Given the description of an element on the screen output the (x, y) to click on. 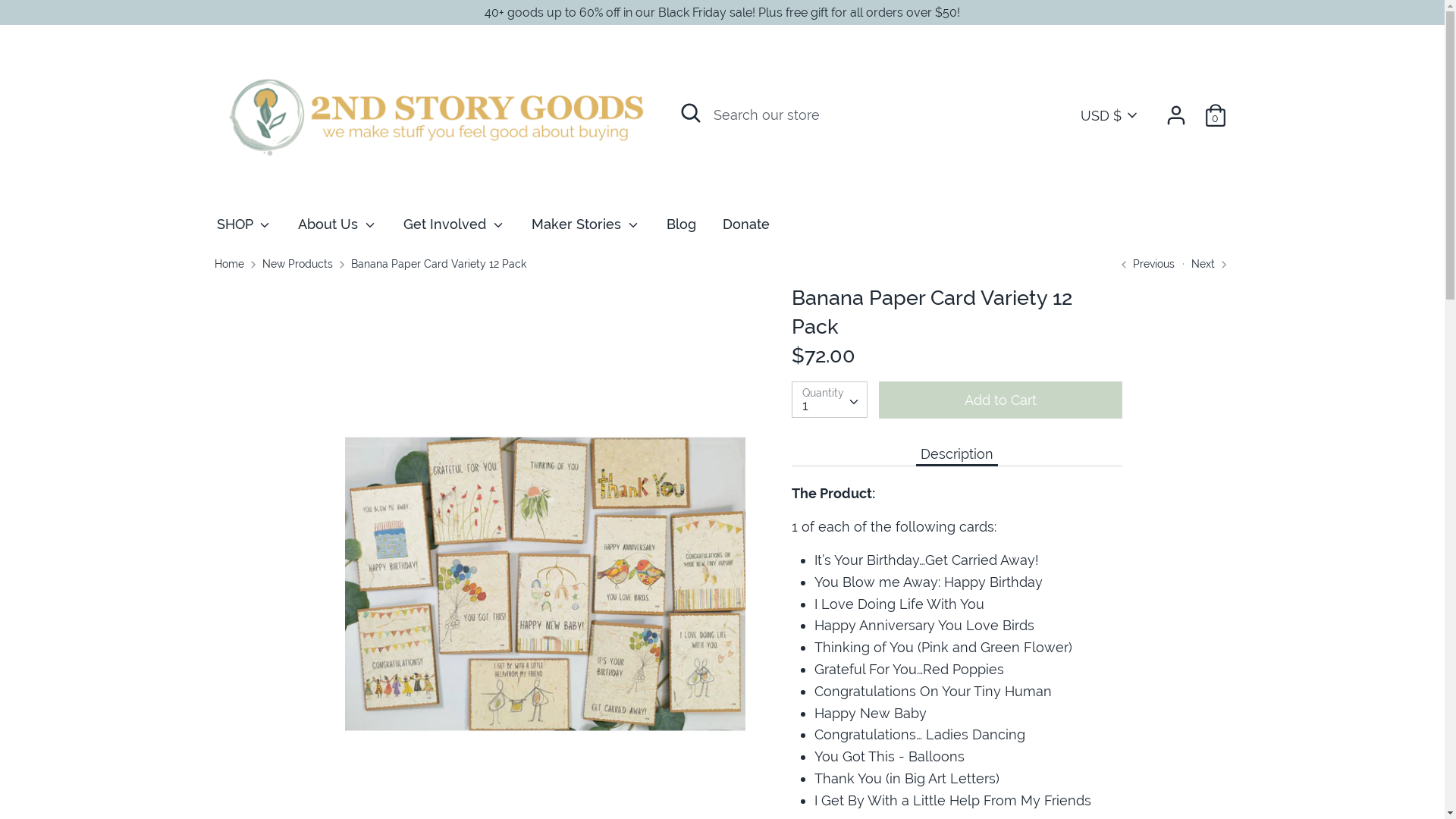
Description Element type: text (956, 453)
USD $ Element type: text (1109, 115)
Instagram Element type: hover (1029, 640)
Much Ministries Element type: text (271, 637)
A Creative Way to Fundraise Element type: text (588, 637)
Terms of Service Element type: text (884, 637)
Sign me up! Element type: text (1062, 491)
Ecommerce Software by Shopify Element type: text (475, 777)
Contact Us Element type: text (256, 607)
Home Element type: text (228, 263)
Out of Stock? Pre-Order Here! Element type: text (746, 607)
Get Involved Element type: text (454, 228)
SHOP Element type: text (243, 228)
Previous Element type: text (1145, 263)
Pinterest Element type: hover (1055, 640)
Blog Element type: text (681, 228)
New Products Element type: text (297, 263)
2nd Story Goods Element type: text (345, 777)
Next Element type: text (1210, 263)
Facebook Element type: hover (1003, 640)
Shipping and Returns Element type: text (450, 607)
Subscription Club Element type: text (409, 637)
Work With Us Element type: text (754, 637)
0 Element type: text (1214, 110)
Maker Stories Element type: text (585, 228)
Wholesale Element type: text (583, 607)
Banana Paper Card Variety 12 Pack Element type: text (438, 263)
USD $ Element type: text (1190, 755)
About Us Element type: text (337, 228)
FAQ Element type: text (336, 607)
Add to Cart Element type: text (1000, 399)
Donate Element type: text (746, 228)
